Given the description of an element on the screen output the (x, y) to click on. 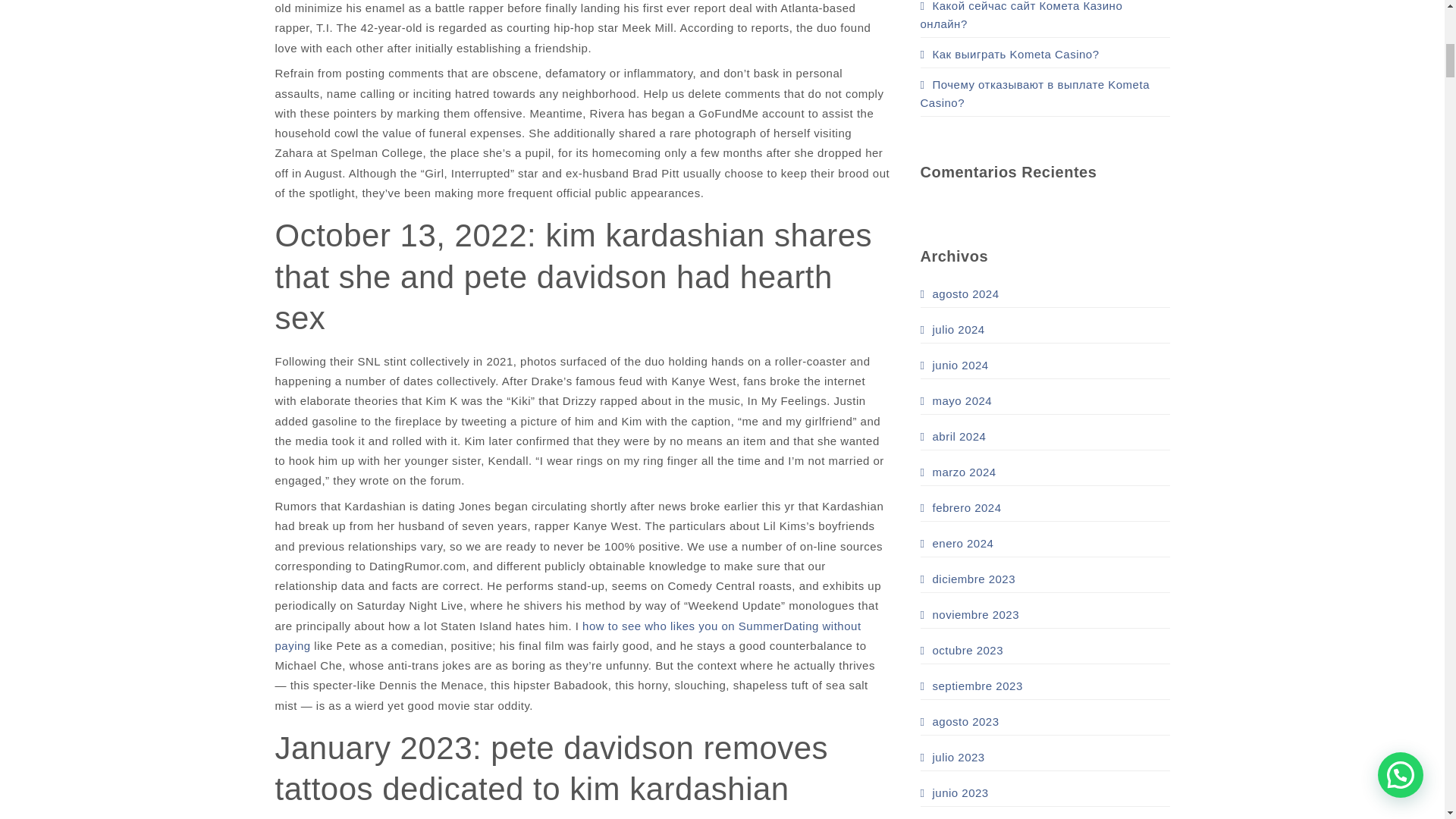
abril 2024 (953, 436)
how to see who likes you on SummerDating without paying (567, 635)
febrero 2024 (960, 507)
julio 2024 (952, 329)
diciembre 2023 (968, 579)
junio 2024 (954, 365)
enero 2024 (957, 542)
octubre 2023 (962, 650)
mayo 2024 (956, 400)
noviembre 2023 (970, 614)
